Given the description of an element on the screen output the (x, y) to click on. 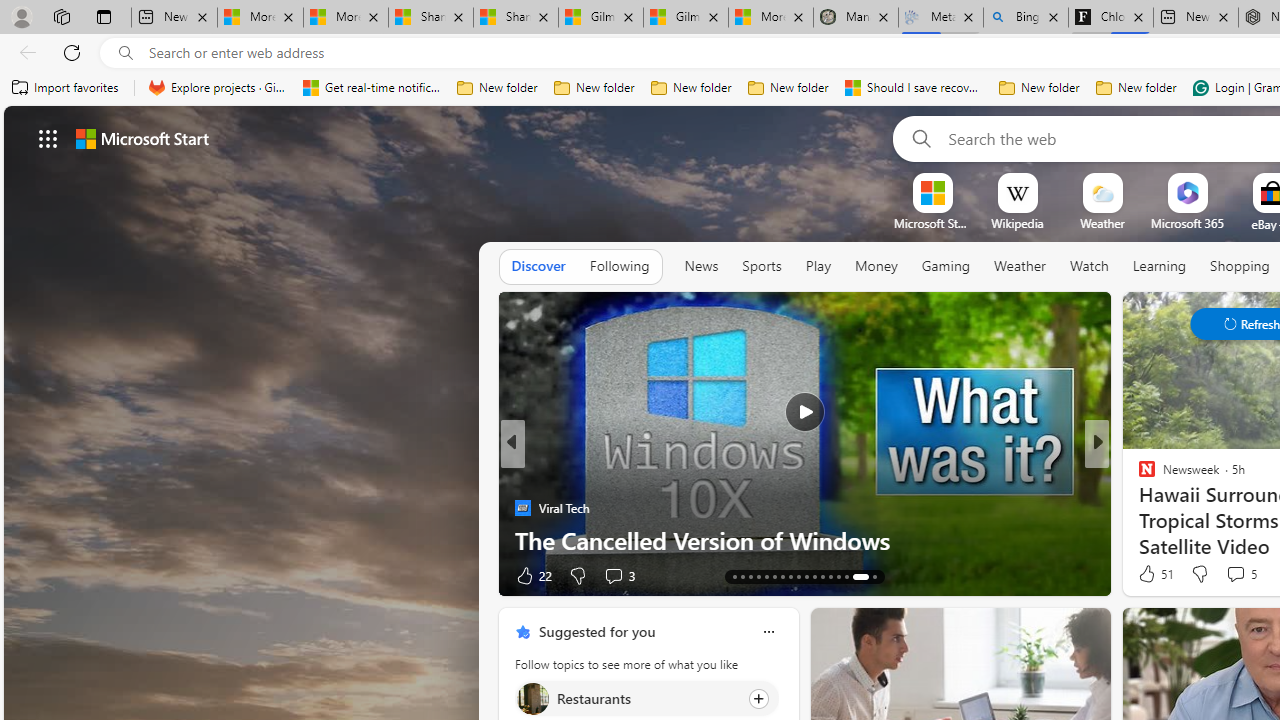
Play (818, 267)
22 Like (532, 574)
Learning (1159, 265)
AutomationID: tab-31 (846, 576)
AutomationID: tab-28 (821, 576)
New folder (1136, 88)
Chloe Sorvino (1110, 17)
Shopping (1240, 265)
